Given the description of an element on the screen output the (x, y) to click on. 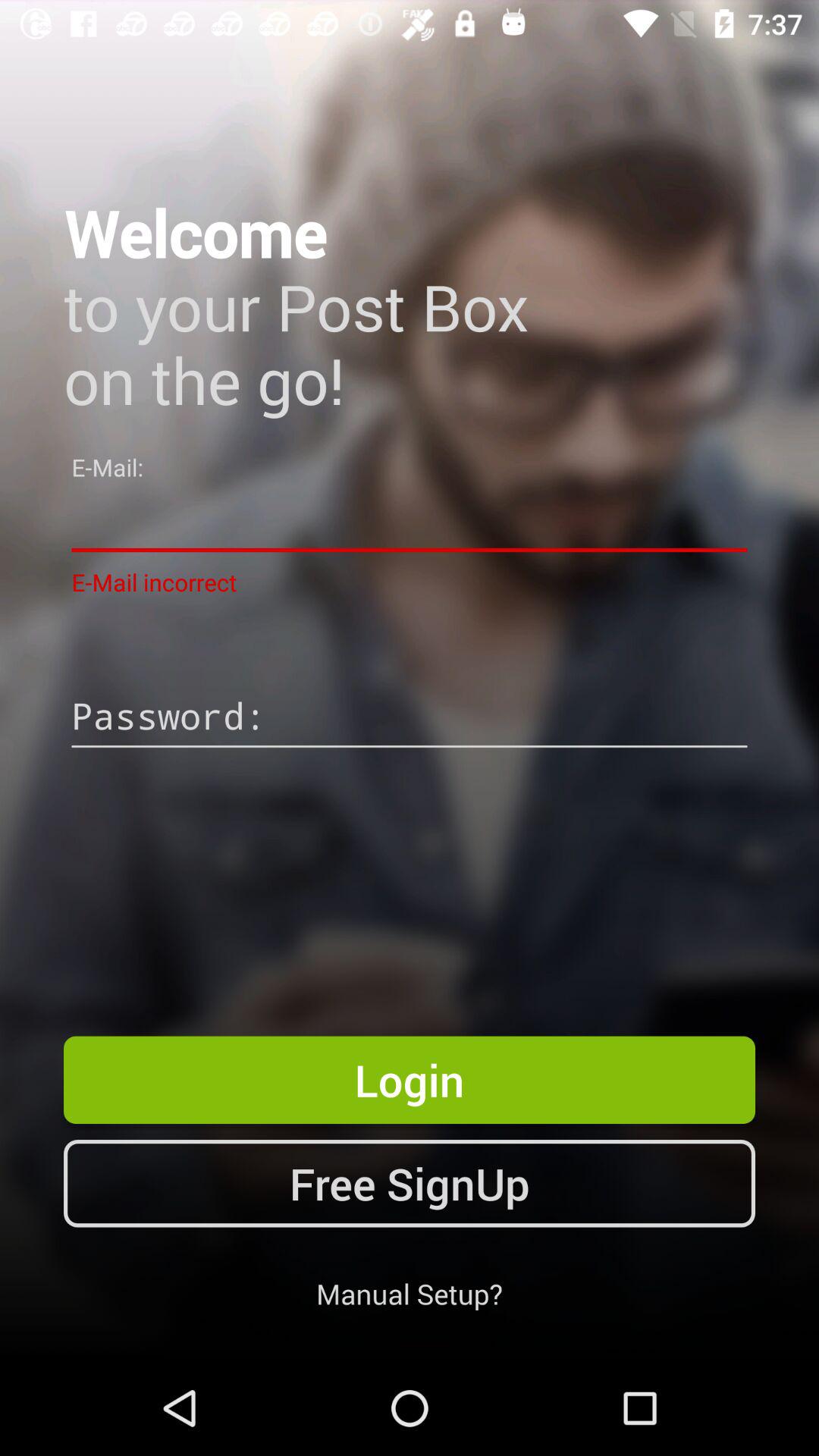
turn off item below the free signup icon (409, 1293)
